Given the description of an element on the screen output the (x, y) to click on. 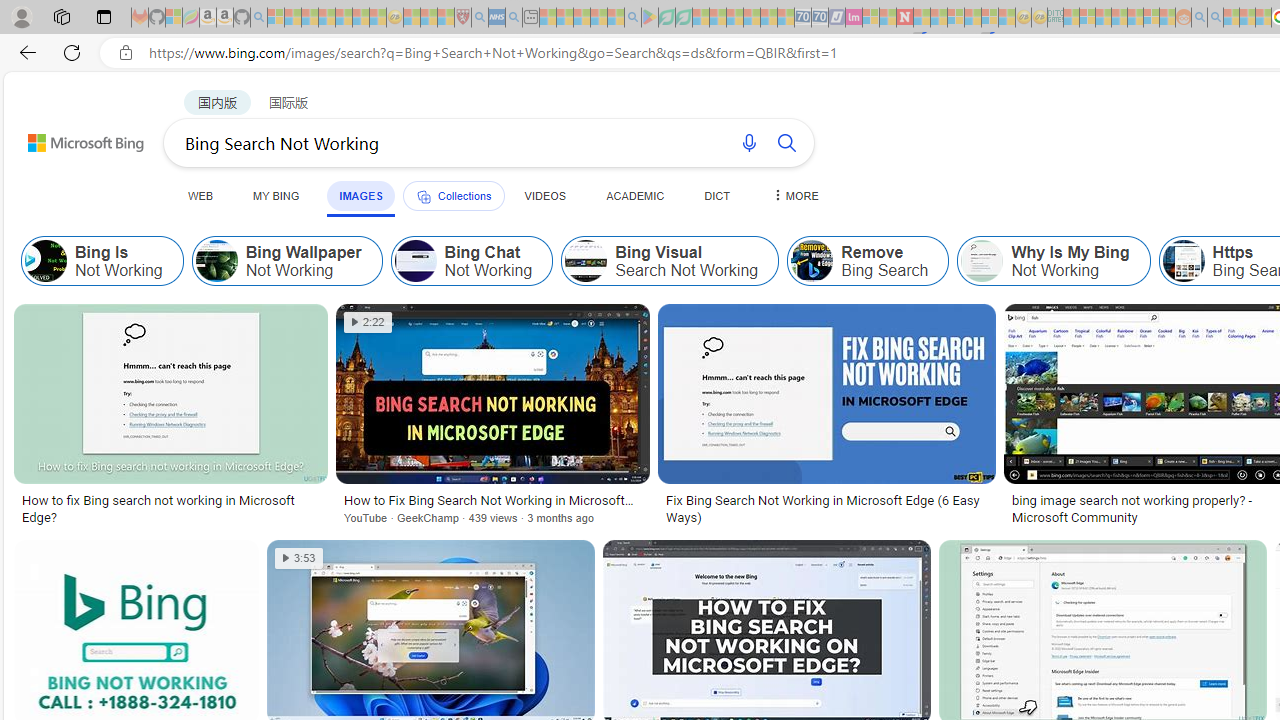
Search button (786, 142)
Bing Is Not Working (102, 260)
Dropdown Menu (793, 195)
